Given the description of an element on the screen output the (x, y) to click on. 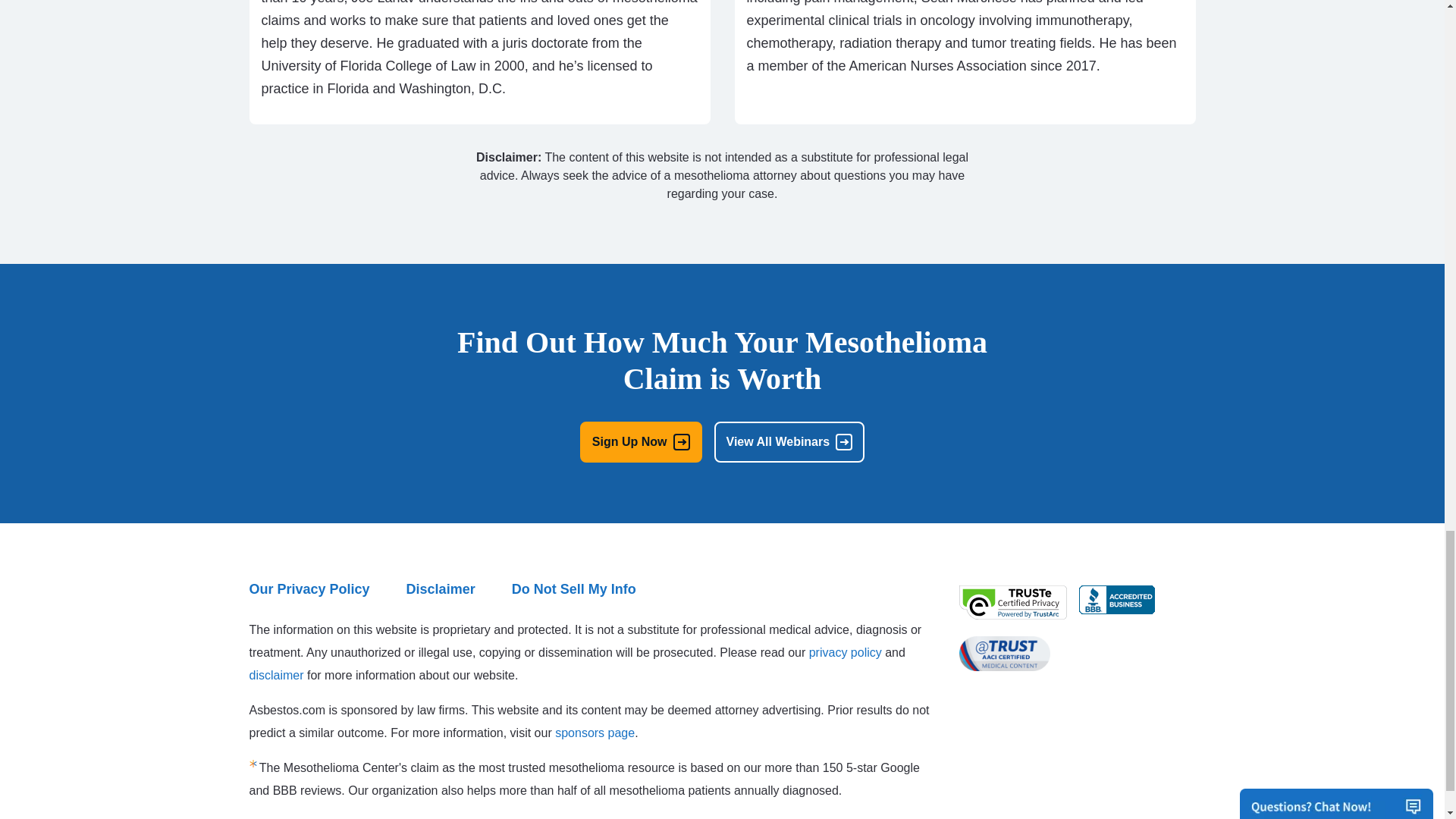
View All Webinars (789, 441)
Asbestos.com, LLC, Health Care, Orlando, FL (1116, 599)
Sign Up Now (640, 441)
